Given the description of an element on the screen output the (x, y) to click on. 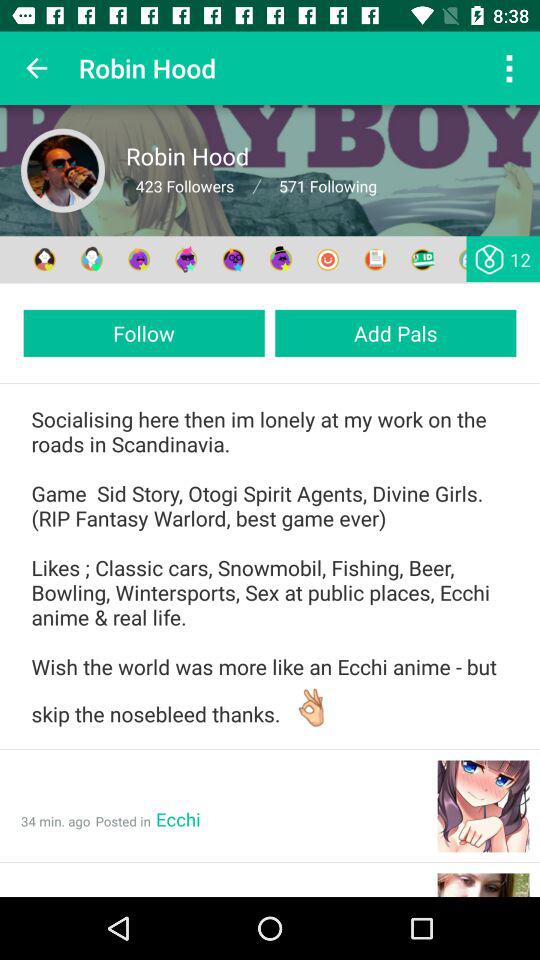
press the item to the left of add pals (143, 332)
